Given the description of an element on the screen output the (x, y) to click on. 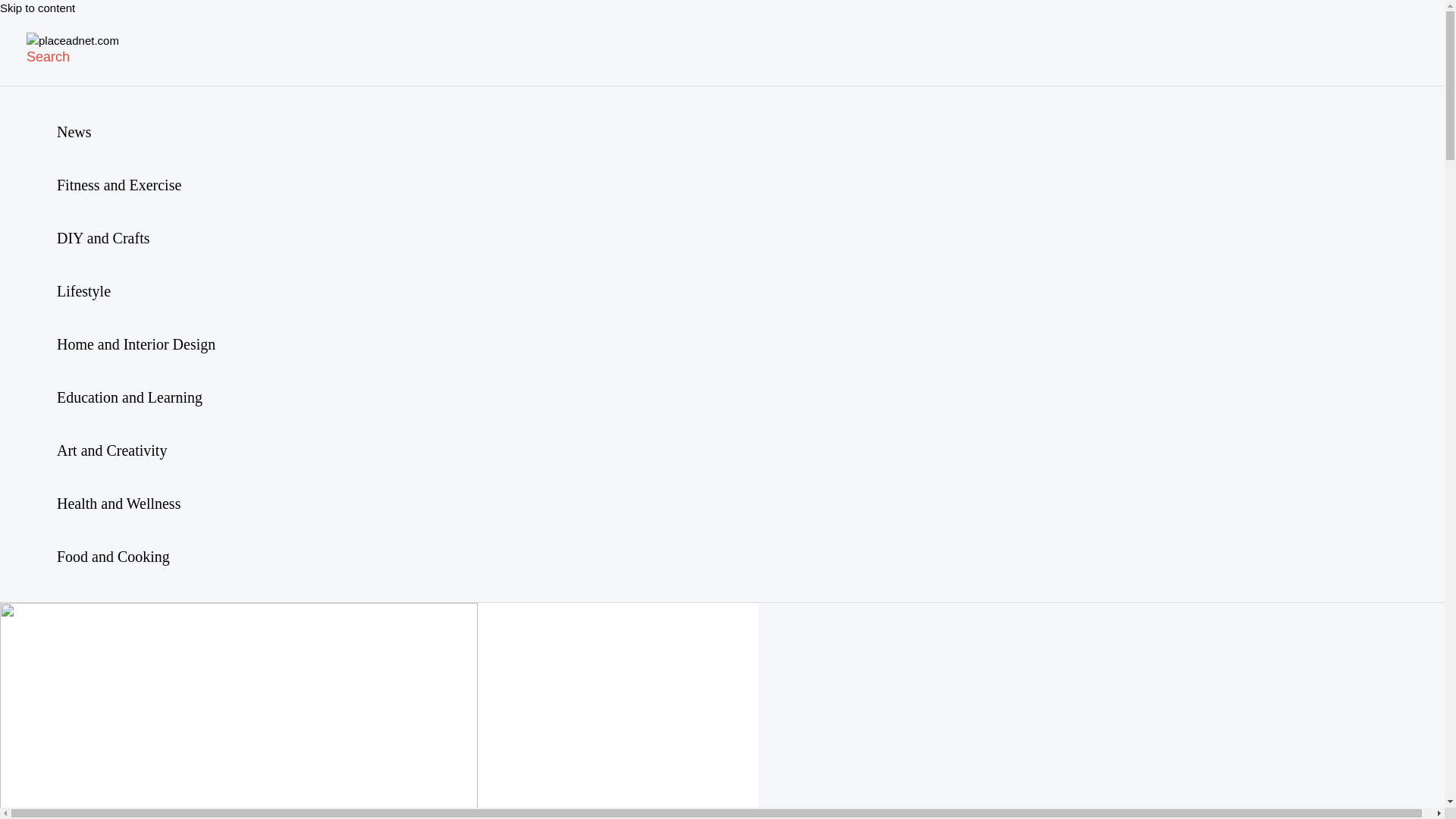
Skip to content (37, 7)
Health and Wellness (135, 502)
News (135, 131)
Art and Creativity (135, 449)
DIY and Crafts (135, 236)
Food and Cooking (135, 555)
Search (47, 57)
Skip to content (37, 7)
Fitness and Exercise (135, 184)
Home and Interior Design (135, 343)
